Given the description of an element on the screen output the (x, y) to click on. 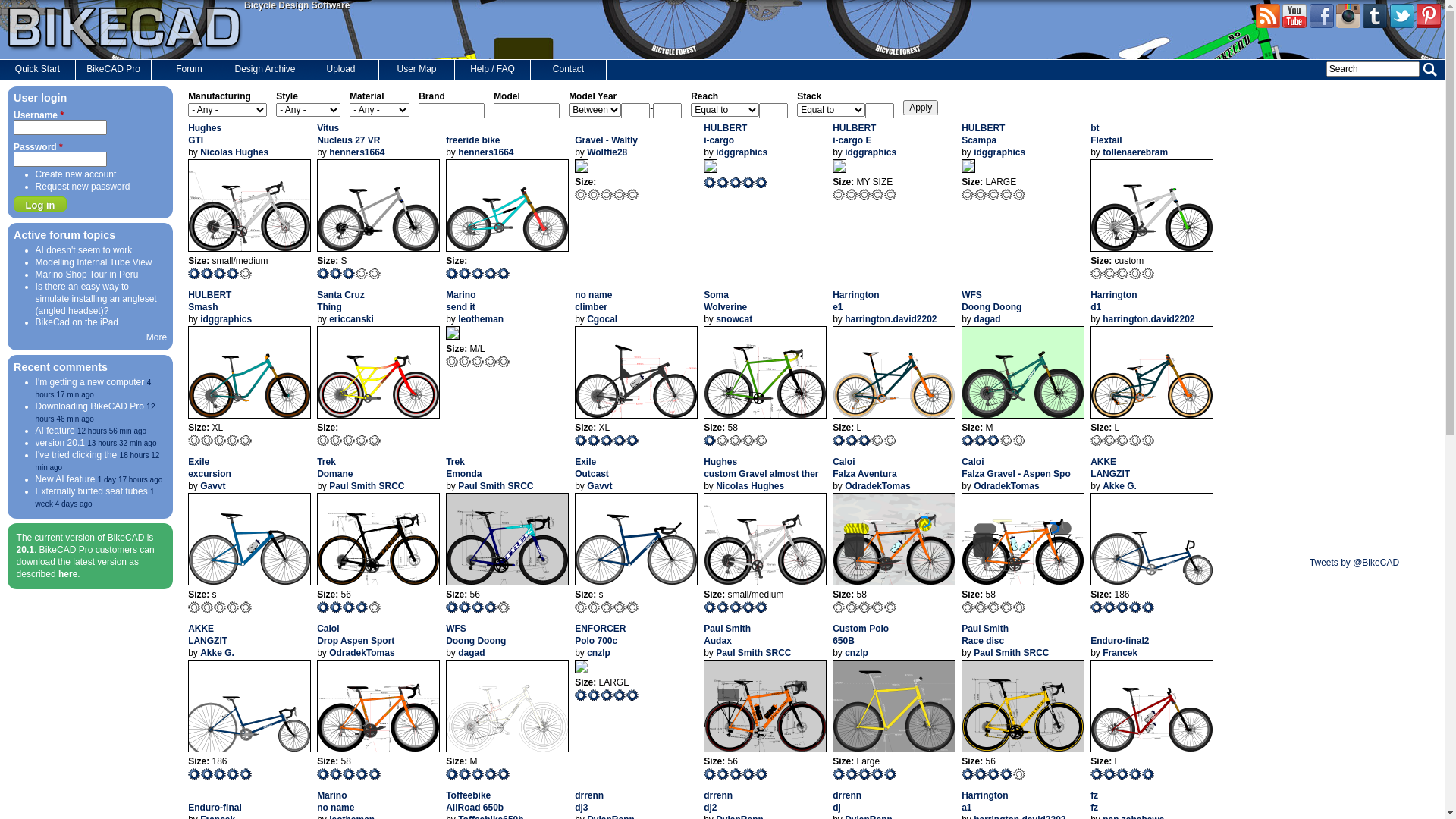
Give Audax 1/5 Element type: text (709, 773)
Give custom Gravel almost there 3/5 Element type: text (735, 606)
drrenn
dj3 Element type: text (588, 801)
Give Emonda 5/5 Element type: text (503, 606)
Downloading BikeCAD Pro Element type: text (89, 406)
Give Audax 4/5 Element type: text (748, 773)
Give i-cargo 4/5 Element type: text (748, 182)
dagad Element type: text (986, 318)
HULBERT
i-cargo E Element type: text (853, 133)
Give d1 1/5 Element type: text (1096, 439)
Trek
Domane Element type: text (334, 467)
Give Gravel - Waltly 1/5 Element type: text (580, 194)
Give d1 4/5 Element type: text (1135, 439)
Give Doong Doong 3/5 Element type: text (993, 439)
Give d1 3/5 Element type: text (1122, 439)
Help / FAQ Element type: text (492, 69)
Quick Start Element type: text (37, 69)
Give Outcast 2/5 Element type: text (593, 606)
Give Wolverine 5/5 Element type: text (761, 439)
Give Thing 5/5 Element type: text (374, 439)
Give e1 1/5 Element type: text (838, 439)
Marino Shop Tour in Peru Element type: text (86, 274)
Give LANGZIT 5/5 Element type: text (245, 773)
dagad Element type: text (471, 652)
Give Smash 1/5 Element type: text (194, 439)
Give 650B 1/5 Element type: text (838, 773)
Give Race disc 1/5 Element type: text (967, 773)
Give Enduro-final2 5/5 Element type: text (1148, 773)
Give Doong Doong 3/5 Element type: text (477, 773)
Give Domane 2/5 Element type: text (335, 606)
ENFORCER
Polo 700c Element type: text (599, 634)
Give Falza Aventura 3/5 Element type: text (864, 606)
Give Wolverine 2/5 Element type: text (722, 439)
Give Domane 1/5 Element type: text (322, 606)
Gavvt Element type: text (212, 485)
BikeCad on the iPad Element type: text (76, 321)
Give Race disc 2/5 Element type: text (980, 773)
Give freeride bike 3/5 Element type: text (477, 273)
Give GTI 5/5 Element type: text (245, 273)
Vitus
Nucleus 27 VR Element type: text (347, 133)
Give Doong Doong 4/5 Element type: text (490, 773)
Give custom Gravel almost there 1/5 Element type: text (709, 606)
Give Drop Aspen Sport 5/5 Element type: text (374, 773)
Akke G. Element type: text (217, 652)
Request new password Element type: text (82, 186)
Exile
Outcast Element type: text (591, 467)
Give LANGZIT 3/5 Element type: text (1122, 606)
Give e1 3/5 Element type: text (864, 439)
Give Thing 2/5 Element type: text (335, 439)
Give freeride bike 5/5 Element type: text (503, 273)
Give Nucleus 27 VR 3/5 Element type: text (348, 273)
Give Scampa 2/5 Element type: text (980, 194)
Nicolas Hughes Element type: text (234, 152)
Contact Element type: text (568, 69)
Give climber 5/5 Element type: text (632, 439)
Give Enduro-final2 3/5 Element type: text (1122, 773)
Give LANGZIT 4/5 Element type: text (1135, 606)
Give send it 1/5 Element type: text (451, 361)
Home Element type: hover (125, 29)
no name
climber Element type: text (592, 300)
Give GTI 4/5 Element type: text (232, 273)
Give Scampa 3/5 Element type: text (993, 194)
Give Enduro-final2 4/5 Element type: text (1135, 773)
Give Smash 3/5 Element type: text (219, 439)
harrington.david2202 Element type: text (890, 318)
Akke G. Element type: text (1119, 485)
Custom Polo
650B Element type: text (860, 634)
Give Wolverine 3/5 Element type: text (735, 439)
Caloi
Falza Gravel - Aspen Spo Element type: text (1015, 467)
Nicolas Hughes Element type: text (749, 485)
BikeCAD Pro Element type: text (113, 69)
Give Falza Aventura 1/5 Element type: text (838, 606)
Cgocal Element type: text (601, 318)
Give Flextail 4/5 Element type: text (1135, 273)
Give Emonda 3/5 Element type: text (477, 606)
Give Doong Doong 1/5 Element type: text (451, 773)
Give Gravel - Waltly 5/5 Element type: text (632, 194)
Give LANGZIT 5/5 Element type: text (1148, 606)
Give excursion 4/5 Element type: text (232, 606)
Give i-cargo 3/5 Element type: text (735, 182)
Give Falza Gravel - Aspen Sport 5/5 Element type: text (1019, 606)
Gavvt Element type: text (598, 485)
Apply Element type: text (920, 107)
Give LANGZIT 1/5 Element type: text (194, 773)
Caloi
Drop Aspen Sport Element type: text (355, 634)
Enduro-final2 Element type: text (1119, 646)
Give Drop Aspen Sport 3/5 Element type: text (348, 773)
Give climber 1/5 Element type: text (580, 439)
Give e1 4/5 Element type: text (877, 439)
Give Thing 4/5 Element type: text (361, 439)
version 20.1 Element type: text (59, 442)
Give Polo 700c 5/5 Element type: text (632, 694)
tollenaerebram Element type: text (1134, 152)
idggraphics Element type: text (741, 152)
Give Domane 5/5 Element type: text (374, 606)
Give Wolverine 4/5 Element type: text (748, 439)
Give Smash 4/5 Element type: text (232, 439)
Give Audax 2/5 Element type: text (722, 773)
HULBERT
Scampa Element type: text (982, 133)
Paul Smith SRCC Element type: text (1010, 652)
20.1 Element type: text (25, 549)
Tweets by @BikeCAD Element type: text (1354, 562)
henners1664 Element type: text (356, 152)
Harrington
d1 Element type: text (1113, 300)
AI feature Element type: text (55, 430)
Give Race disc 5/5 Element type: text (1019, 773)
Jump to navigation Element type: text (722, 2)
Give Falza Gravel - Aspen Sport 2/5 Element type: text (980, 606)
Give 650B 2/5 Element type: text (851, 773)
OdradekTomas Element type: text (361, 652)
Give custom Gravel almost there 2/5 Element type: text (722, 606)
Give LANGZIT 1/5 Element type: text (1096, 606)
Give Flextail 2/5 Element type: text (1109, 273)
Design Archive Element type: text (265, 69)
WFS
Doong Doong Element type: text (475, 634)
henners1664 Element type: text (485, 152)
Give Smash 2/5 Element type: text (206, 439)
Give i-cargo E 5/5 Element type: text (890, 194)
Give excursion 1/5 Element type: text (194, 606)
Give Flextail 3/5 Element type: text (1122, 273)
Give Outcast 3/5 Element type: text (606, 606)
Give 650B 3/5 Element type: text (864, 773)
Give Doong Doong 2/5 Element type: text (980, 439)
snowcat Element type: text (733, 318)
Give freeride bike 4/5 Element type: text (490, 273)
Give i-cargo E 4/5 Element type: text (877, 194)
Give e1 5/5 Element type: text (890, 439)
Wolffie28 Element type: text (606, 152)
Give Outcast 1/5 Element type: text (580, 606)
bt
Flextail Element type: text (1105, 133)
Give GTI 3/5 Element type: text (219, 273)
Give i-cargo E 3/5 Element type: text (864, 194)
leotheman Element type: text (480, 318)
Rate Element type: text (15, 7)
Give Gravel - Waltly 4/5 Element type: text (619, 194)
Give Doong Doong 5/5 Element type: text (503, 773)
Enter the terms you wish to search for. Element type: hover (1372, 68)
Give Drop Aspen Sport 1/5 Element type: text (322, 773)
fz
fz Element type: text (1094, 801)
Give send it 4/5 Element type: text (490, 361)
Give Nucleus 27 VR 5/5 Element type: text (374, 273)
Give climber 3/5 Element type: text (606, 439)
Trek
Emonda Element type: text (463, 467)
WFS
Doong Doong Element type: text (991, 300)
Give Polo 700c 1/5 Element type: text (580, 694)
Give LANGZIT 2/5 Element type: text (206, 773)
Give custom Gravel almost there 5/5 Element type: text (761, 606)
More Element type: text (156, 337)
Give send it 2/5 Element type: text (464, 361)
Give freeride bike 1/5 Element type: text (451, 273)
Give Gravel - Waltly 3/5 Element type: text (606, 194)
I've tried clicking the Element type: text (76, 454)
Give Doong Doong 5/5 Element type: text (1019, 439)
Give Race disc 3/5 Element type: text (993, 773)
Give Nucleus 27 VR 2/5 Element type: text (335, 273)
Give LANGZIT 3/5 Element type: text (219, 773)
Give excursion 3/5 Element type: text (219, 606)
Marino
no name Element type: text (335, 801)
Give custom Gravel almost there 4/5 Element type: text (748, 606)
Give Outcast 5/5 Element type: text (632, 606)
Advertisement Element type: hover (1354, 313)
Give Thing 3/5 Element type: text (348, 439)
Caloi
Falza Aventura Element type: text (864, 467)
Give Falza Gravel - Aspen Sport 3/5 Element type: text (993, 606)
Give freeride bike 2/5 Element type: text (464, 273)
Give Nucleus 27 VR 1/5 Element type: text (322, 273)
idggraphics Element type: text (225, 318)
Give Polo 700c 4/5 Element type: text (619, 694)
Harrington
a1 Element type: text (984, 801)
User Map Element type: text (417, 69)
Give 650B 5/5 Element type: text (890, 773)
Give i-cargo 1/5 Element type: text (709, 182)
Gravel - Waltly Element type: text (605, 145)
Give Domane 4/5 Element type: text (361, 606)
Soma
Wolverine Element type: text (724, 300)
ericcanski Element type: text (351, 318)
Give Emonda 1/5 Element type: text (451, 606)
Give Race disc 4/5 Element type: text (1006, 773)
harrington.david2202 Element type: text (1148, 318)
Paul Smith SRCC Element type: text (752, 652)
Give Scampa 5/5 Element type: text (1019, 194)
Give Enduro-final2 1/5 Element type: text (1096, 773)
Give Enduro-final2 2/5 Element type: text (1109, 773)
Marino
send it Element type: text (460, 300)
AI doesn't seem to work Element type: text (83, 249)
Give Doong Doong 1/5 Element type: text (967, 439)
Give Audax 3/5 Element type: text (735, 773)
Exile
excursion Element type: text (209, 467)
Hughes
custom Gravel almost ther Element type: text (760, 467)
drrenn
dj2 Element type: text (717, 801)
Give d1 5/5 Element type: text (1148, 439)
Give Domane 3/5 Element type: text (348, 606)
Create new account Element type: text (75, 174)
Give Flextail 5/5 Element type: text (1148, 273)
Give Thing 1/5 Element type: text (322, 439)
Give Emonda 2/5 Element type: text (464, 606)
cnzlp Element type: text (856, 652)
OdradekTomas Element type: text (877, 485)
Give Falza Aventura 2/5 Element type: text (851, 606)
Give Wolverine 1/5 Element type: text (709, 439)
Give LANGZIT 4/5 Element type: text (232, 773)
Give Drop Aspen Sport 2/5 Element type: text (335, 773)
Give i-cargo 5/5 Element type: text (761, 182)
AKKE
LANGZIT Element type: text (207, 634)
Give send it 5/5 Element type: text (503, 361)
Give Falza Aventura 4/5 Element type: text (877, 606)
Give Outcast 4/5 Element type: text (619, 606)
Give Polo 700c 2/5 Element type: text (593, 694)
Give send it 3/5 Element type: text (477, 361)
HULBERT
i-cargo Element type: text (724, 133)
Give Scampa 1/5 Element type: text (967, 194)
Paul Smith
Audax Element type: text (726, 634)
Give Flextail 1/5 Element type: text (1096, 273)
Give Emonda 4/5 Element type: text (490, 606)
Give Nucleus 27 VR 4/5 Element type: text (361, 273)
Give Falza Gravel - Aspen Sport 4/5 Element type: text (1006, 606)
Give i-cargo 2/5 Element type: text (722, 182)
Log in Element type: text (39, 203)
Give climber 2/5 Element type: text (593, 439)
Paul Smith
Race disc Element type: text (984, 634)
Give Polo 700c 3/5 Element type: text (606, 694)
Give Scampa 4/5 Element type: text (1006, 194)
I'm getting a new computer Element type: text (89, 381)
Santa Cruz
Thing Element type: text (340, 300)
Give LANGZIT 2/5 Element type: text (1109, 606)
Give Smash 5/5 Element type: text (245, 439)
Give Drop Aspen Sport 4/5 Element type: text (361, 773)
Give 650B 4/5 Element type: text (877, 773)
Upload Element type: text (341, 69)
Give GTI 2/5 Element type: text (206, 273)
drrenn
dj Element type: text (846, 801)
Hughes
GTI Element type: text (204, 133)
Harrington
e1 Element type: text (855, 300)
idggraphics Element type: text (870, 152)
Give excursion 5/5 Element type: text (245, 606)
Modelling Internal Tube View Element type: text (93, 262)
freeride bike Element type: text (472, 145)
Give Gravel - Waltly 2/5 Element type: text (593, 194)
Give i-cargo E 1/5 Element type: text (838, 194)
Give GTI 1/5 Element type: text (194, 273)
OdradekTomas Element type: text (1005, 485)
Give Doong Doong 2/5 Element type: text (464, 773)
Francek Element type: text (1119, 652)
HULBERT
Smash Element type: text (209, 300)
Externally butted seat tubes Element type: text (91, 491)
Forum Element type: text (189, 69)
Give climber 4/5 Element type: text (619, 439)
Give Falza Aventura 5/5 Element type: text (890, 606)
Give d1 2/5 Element type: text (1109, 439)
Give e1 2/5 Element type: text (851, 439)
Give i-cargo E 2/5 Element type: text (851, 194)
AKKE
LANGZIT Element type: text (1109, 467)
Paul Smith SRCC Element type: text (495, 485)
cnzlp Element type: text (598, 652)
here Element type: text (67, 573)
New AI feature Element type: text (65, 478)
Give Falza Gravel - Aspen Sport 1/5 Element type: text (967, 606)
Give excursion 2/5 Element type: text (206, 606)
Toffeebike
AllRoad 650b Element type: text (474, 801)
Paul Smith SRCC Element type: text (366, 485)
idggraphics Element type: text (999, 152)
Give Audax 5/5 Element type: text (761, 773)
Give Doong Doong 4/5 Element type: text (1006, 439)
